Given the description of an element on the screen output the (x, y) to click on. 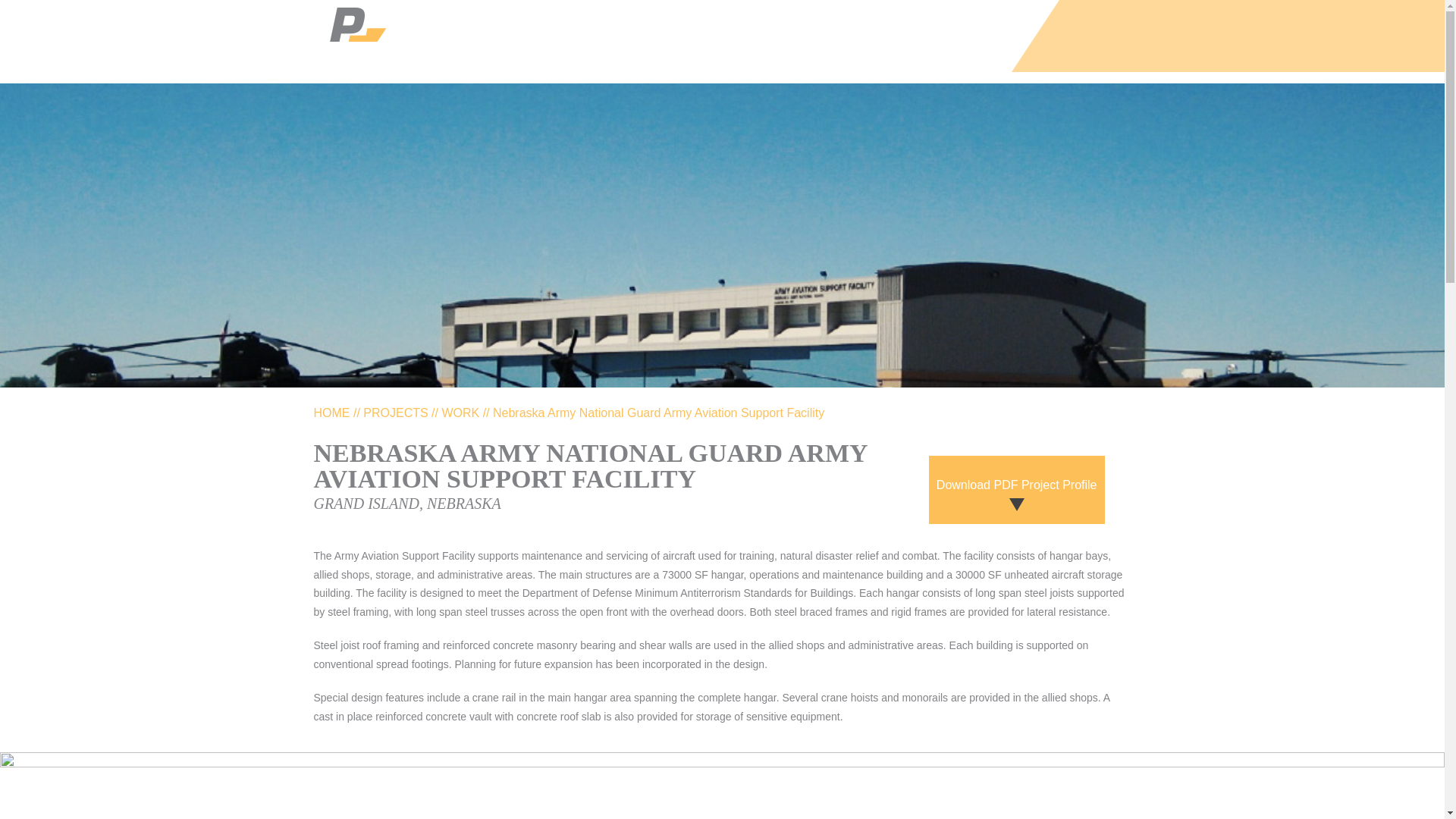
Find (1169, 35)
Download PDF Project Profile (1016, 489)
PROJECTS (395, 412)
HOME (332, 412)
WORK (460, 412)
